Given the description of an element on the screen output the (x, y) to click on. 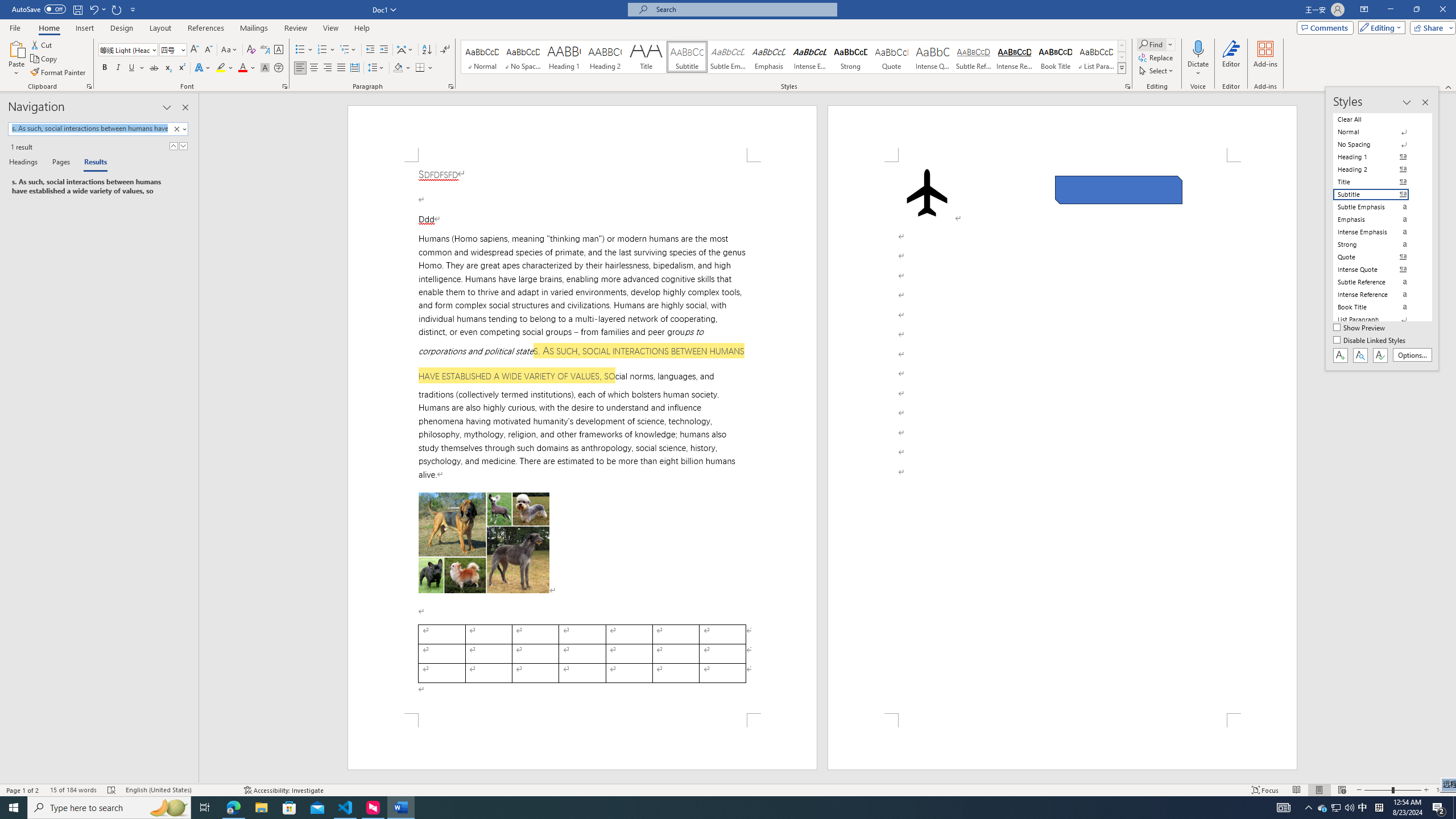
Intense Reference (1014, 56)
Intense Emphasis (809, 56)
Quote (891, 56)
